Given the description of an element on the screen output the (x, y) to click on. 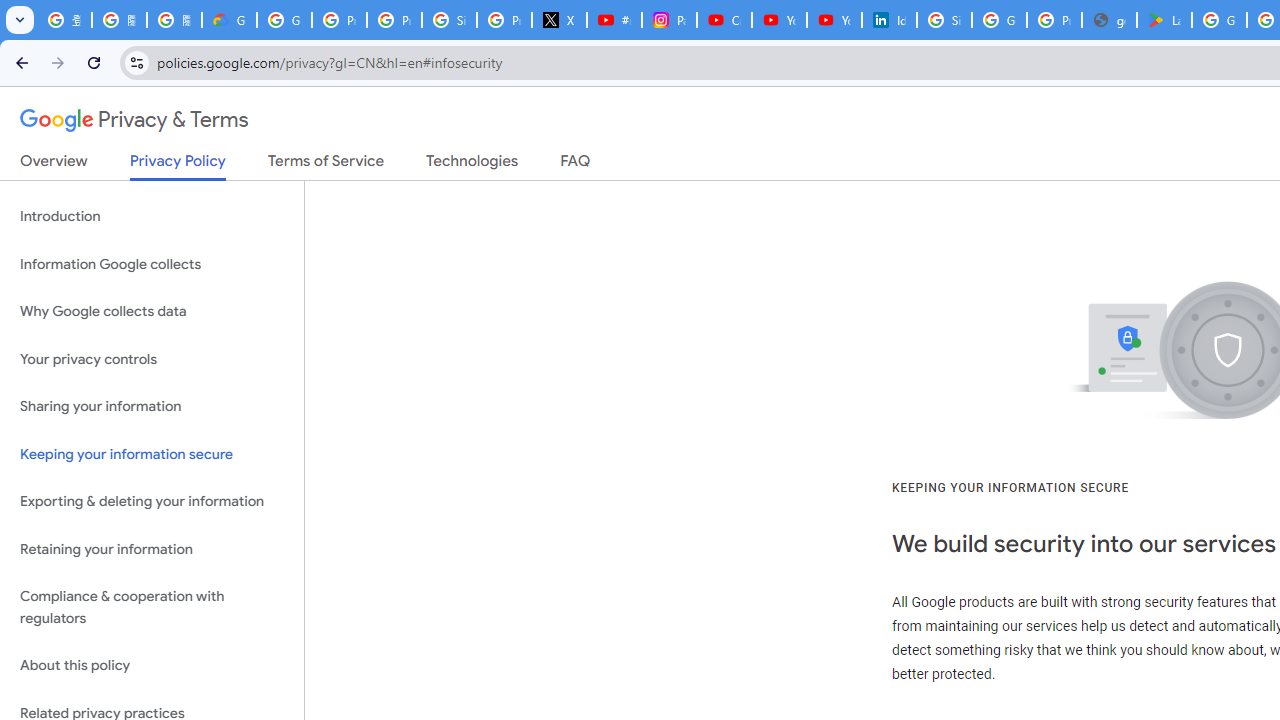
Privacy Policy (177, 166)
Back (19, 62)
Exporting & deleting your information (152, 502)
YouTube Culture & Trends - YouTube Top 10, 2021 (833, 20)
Forward (57, 62)
Your privacy controls (152, 358)
About this policy (152, 666)
Retaining your information (152, 548)
Terms of Service (326, 165)
google_privacy_policy_en.pdf (1108, 20)
